Given the description of an element on the screen output the (x, y) to click on. 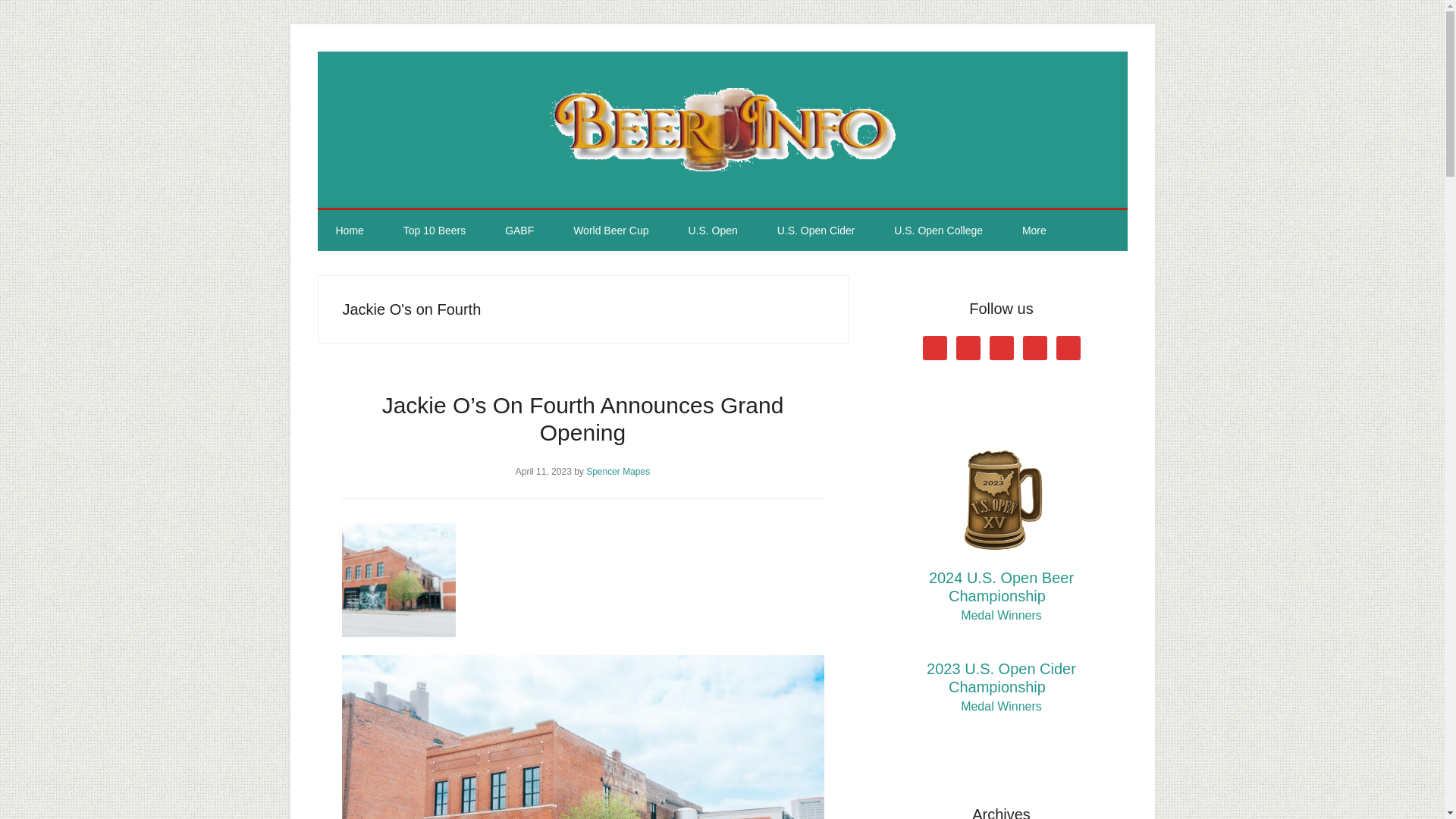
Top 10 Beers (434, 229)
World Beer Cup (610, 229)
Home (349, 229)
Beer Info (721, 129)
GABF (518, 229)
